Given the description of an element on the screen output the (x, y) to click on. 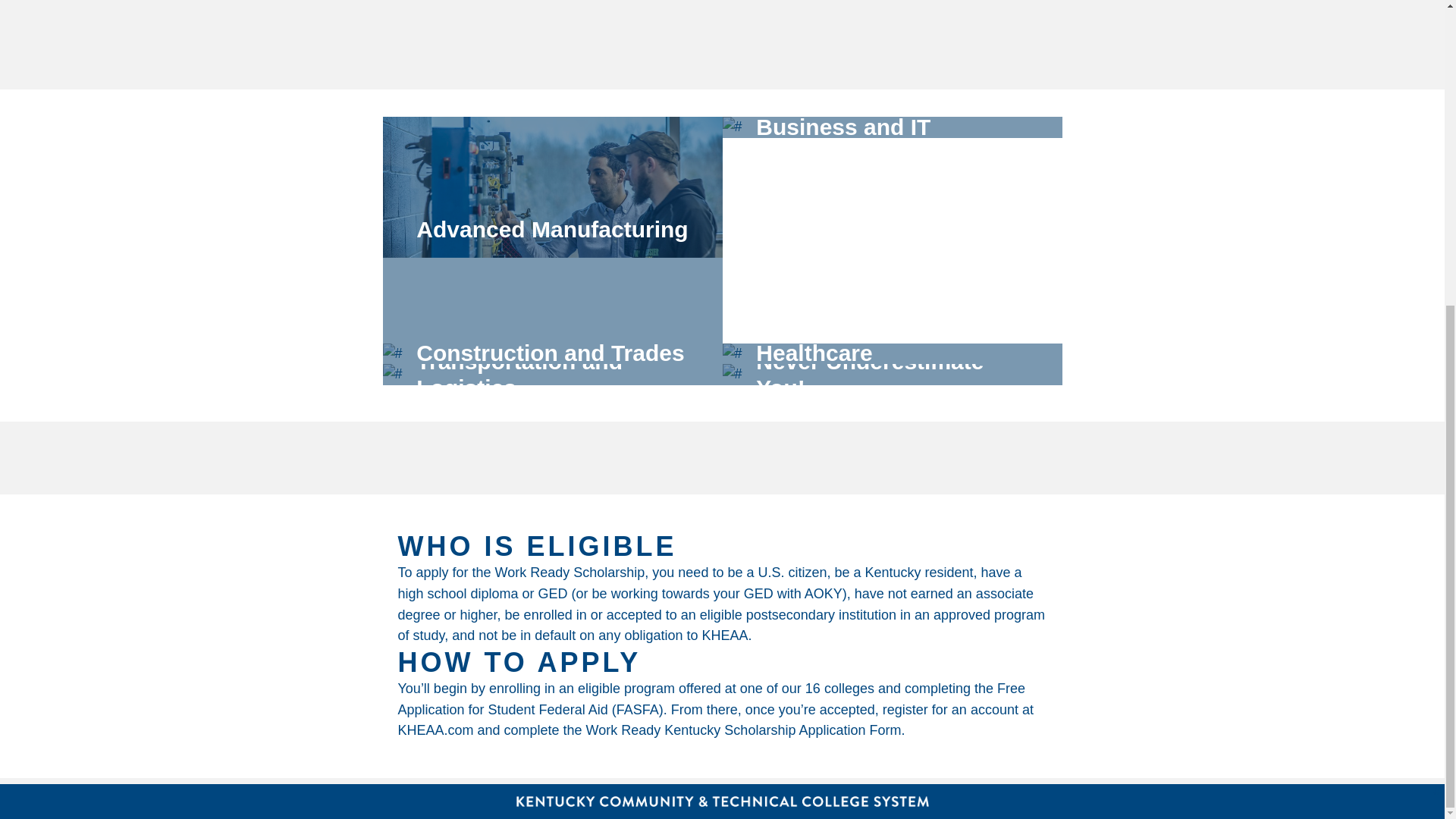
Business and IT (891, 230)
Transportation and Logistics (551, 373)
Advanced Manufacturing (551, 230)
Healthcare (891, 353)
Construction and Trades (551, 353)
Never Underestimate You! (891, 373)
